Given the description of an element on the screen output the (x, y) to click on. 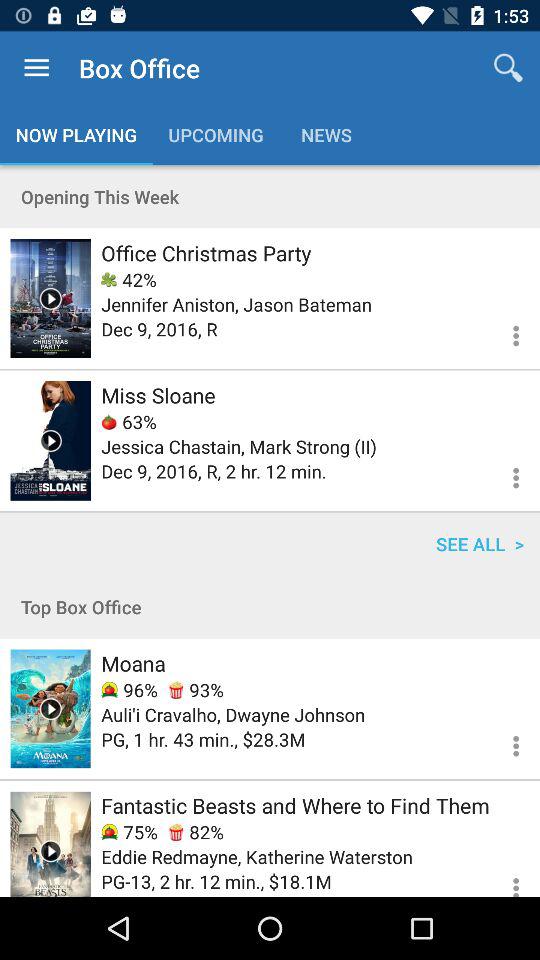
go to movie page (50, 440)
